Given the description of an element on the screen output the (x, y) to click on. 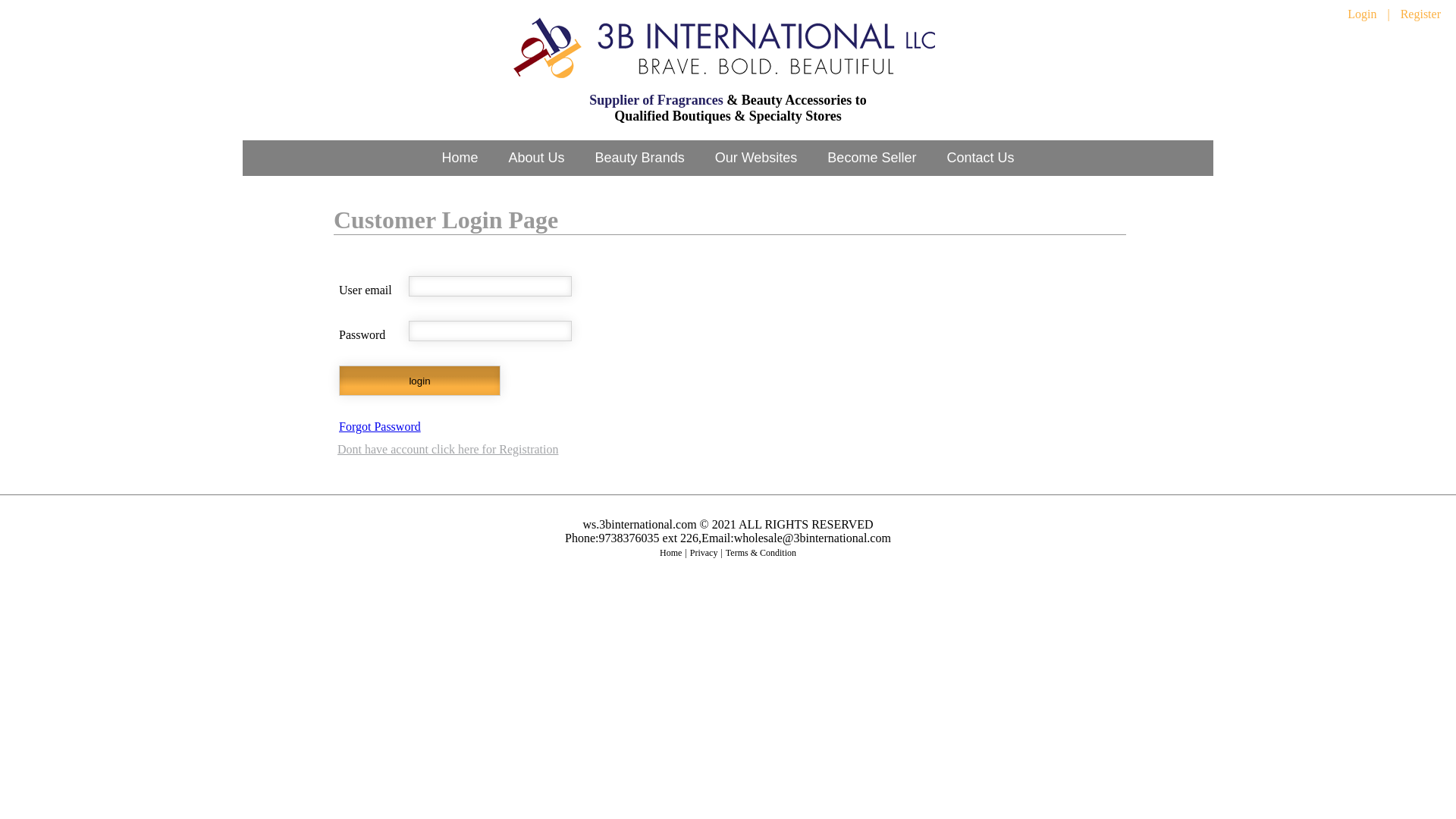
Home Element type: text (460, 157)
| Element type: text (1387, 13)
Terms & Condition Element type: text (760, 552)
login Element type: text (419, 380)
Our Websites Element type: text (756, 157)
Privacy Element type: text (704, 552)
Forgot Password Element type: text (379, 426)
Become Seller Element type: text (871, 157)
Register Element type: text (1420, 13)
Beauty Brands Element type: text (639, 157)
About Us Element type: text (536, 157)
Login Element type: text (1361, 13)
Home Element type: text (670, 552)
Contact Us Element type: text (979, 157)
Dont have account click here for Registration Element type: text (447, 448)
